Given the description of an element on the screen output the (x, y) to click on. 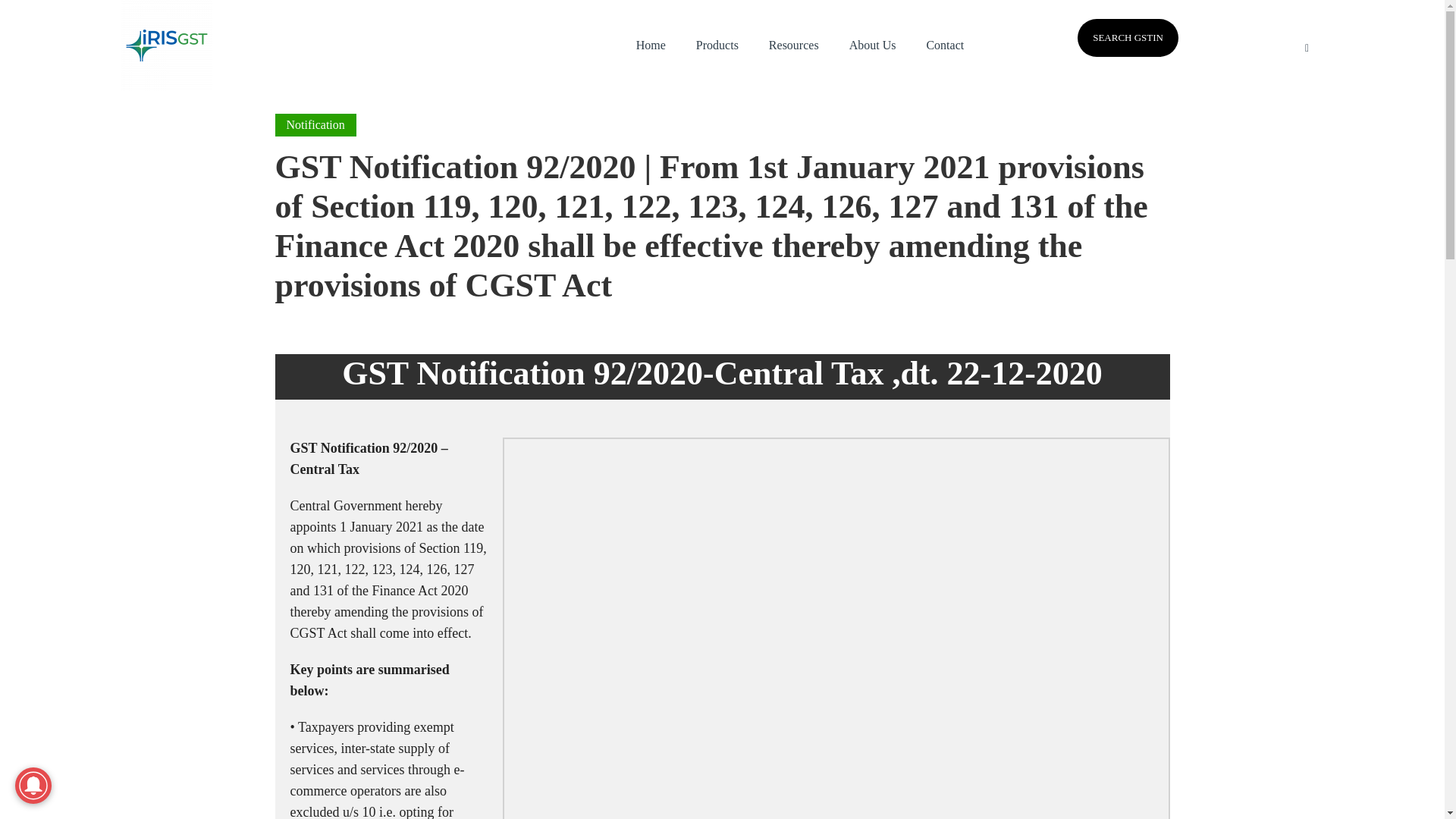
Home (651, 45)
Contact (944, 45)
About Us (872, 45)
Products (717, 45)
SEARCH GSTIN (1127, 37)
Notification (315, 124)
Resources (794, 45)
